Given the description of an element on the screen output the (x, y) to click on. 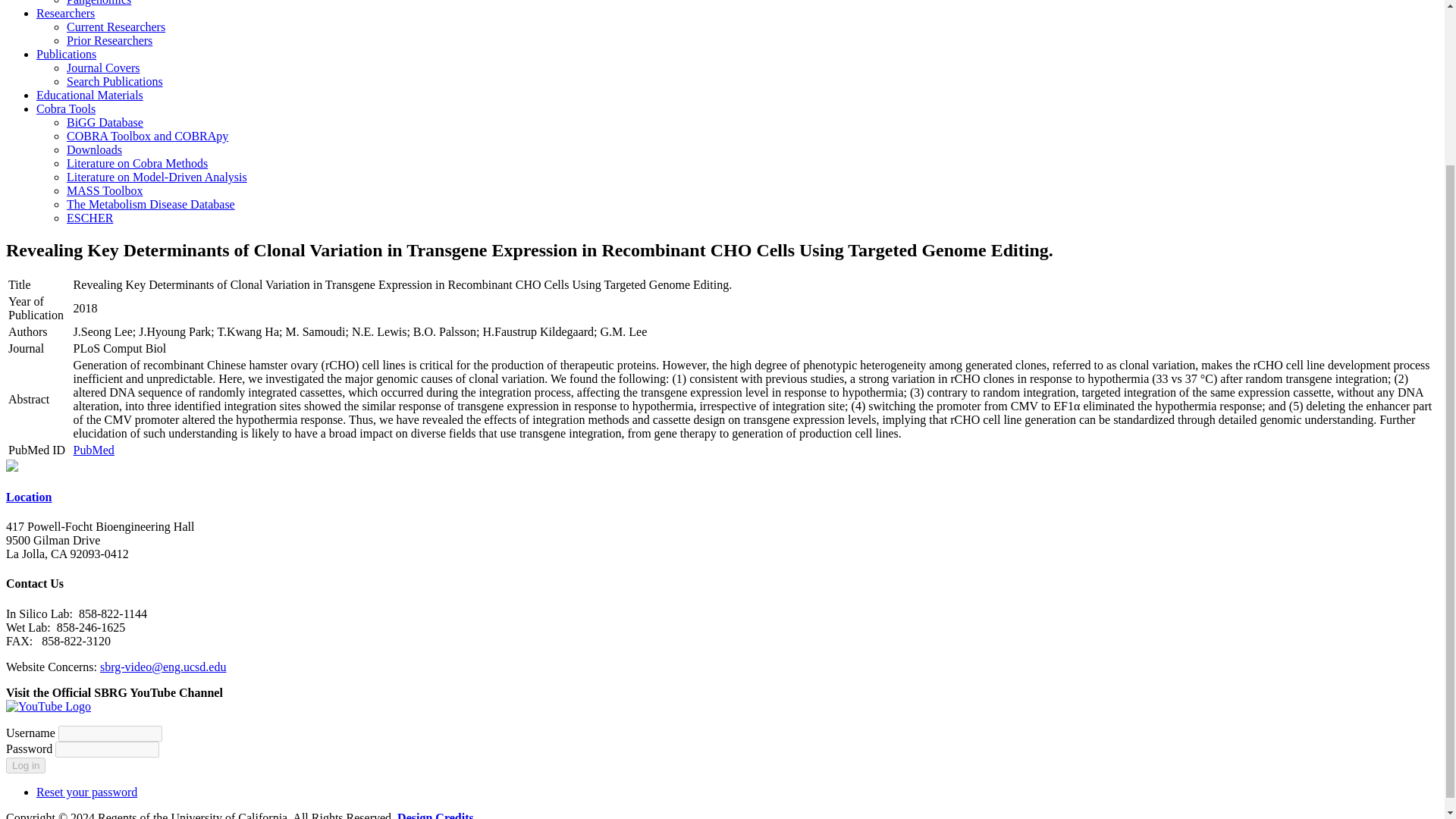
Downloads (94, 149)
Cobra Tools (66, 108)
COBRA Toolbox and COBRApy (147, 135)
ESCHER (89, 217)
Literature on Model-Driven Analysis (156, 176)
Journal Covers (102, 67)
The Metabolism Disease Database (150, 204)
Current Researchers (115, 26)
Location (27, 496)
Search Publications (114, 81)
Literature on Cobra Methods (137, 163)
Log in (25, 765)
Reset your password (86, 791)
Prior Researchers (109, 40)
Researchers (65, 12)
